Given the description of an element on the screen output the (x, y) to click on. 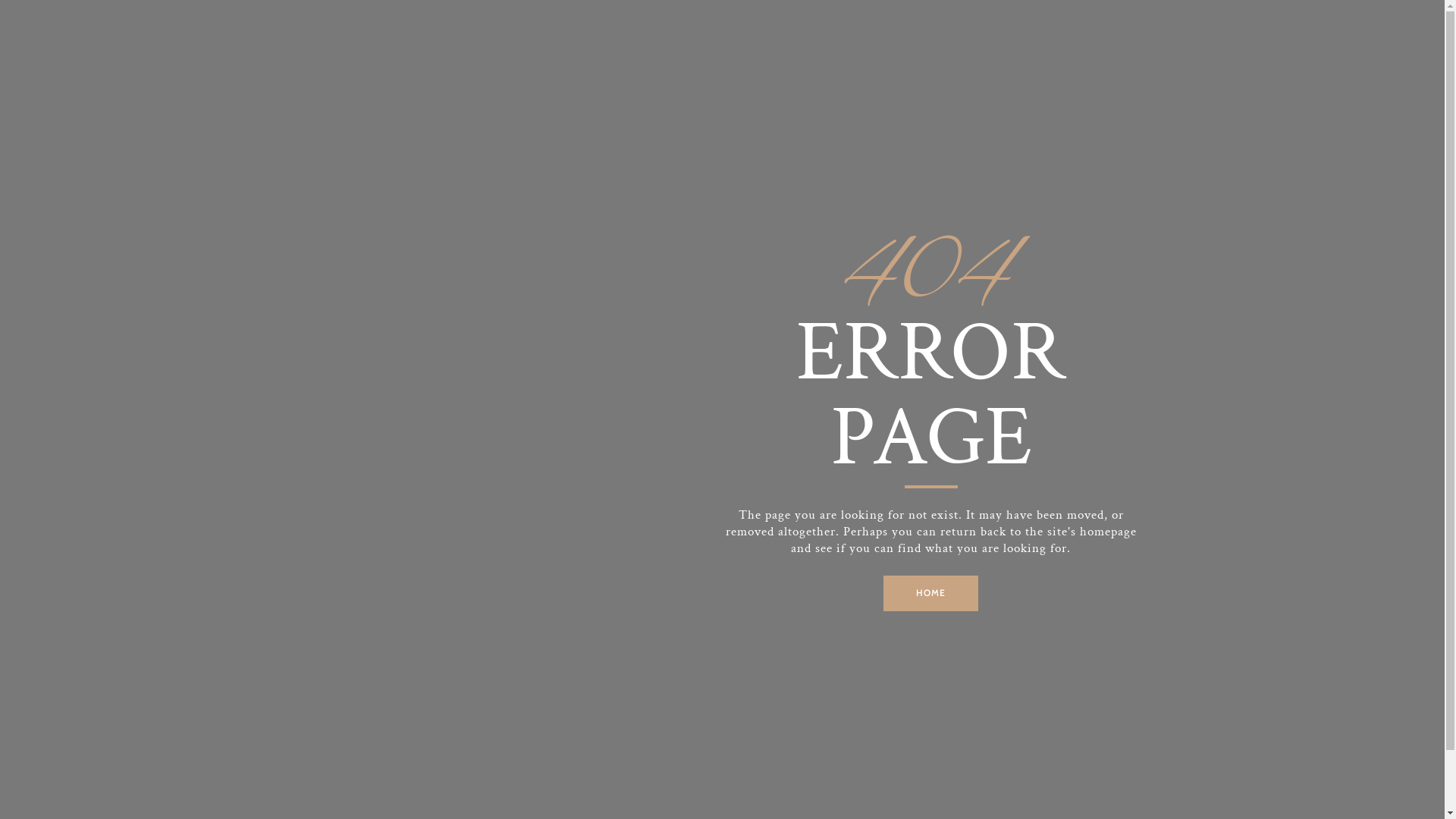
HOME Element type: text (930, 592)
